Given the description of an element on the screen output the (x, y) to click on. 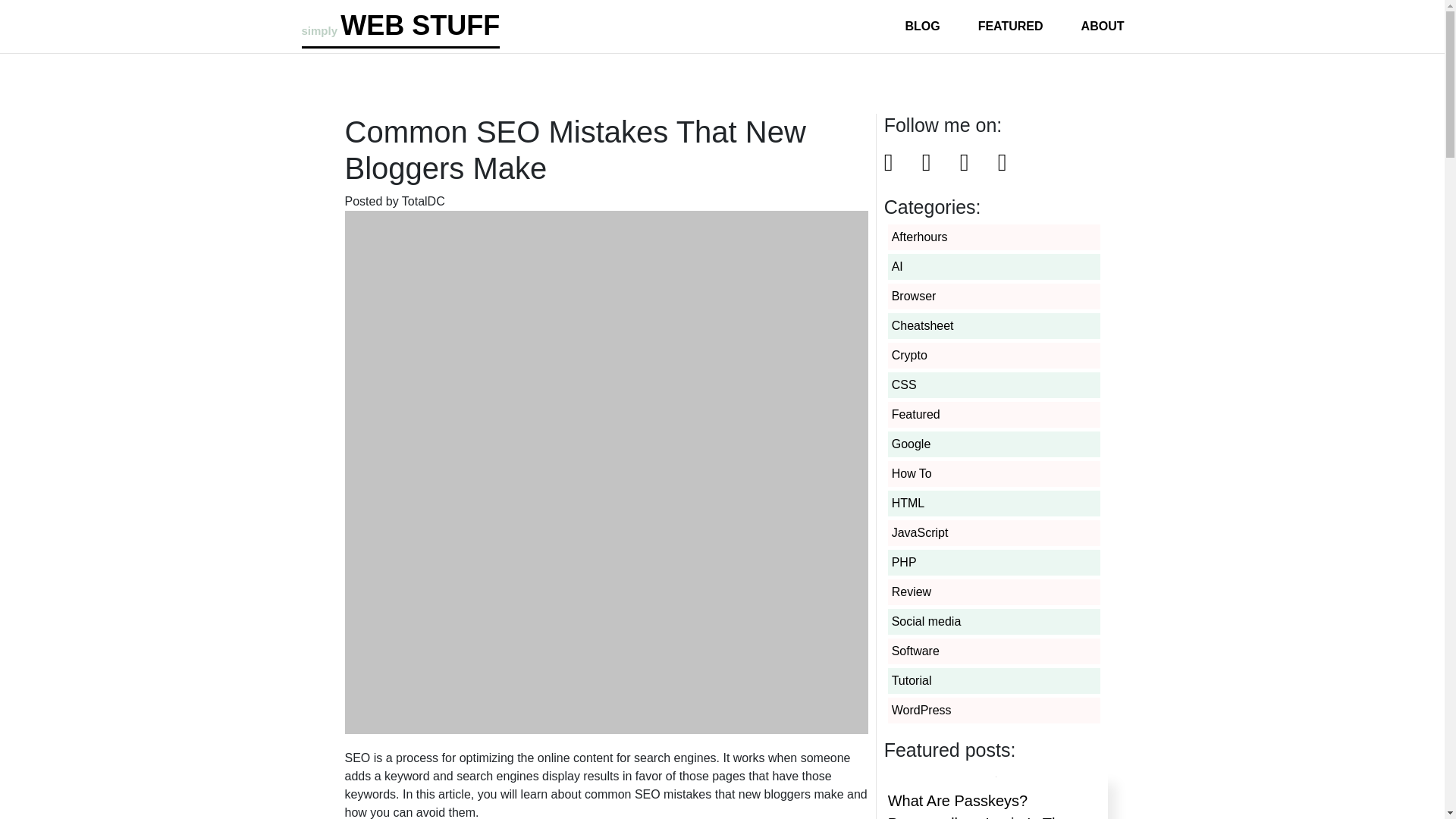
Afterhours (919, 236)
Crypto (909, 354)
Social media (925, 621)
BLOG (921, 25)
Software (915, 650)
simply WEB STUFF (400, 24)
Cheatsheet (922, 325)
FEATURED (1010, 25)
JavaScript (920, 532)
PHP (904, 562)
